Given the description of an element on the screen output the (x, y) to click on. 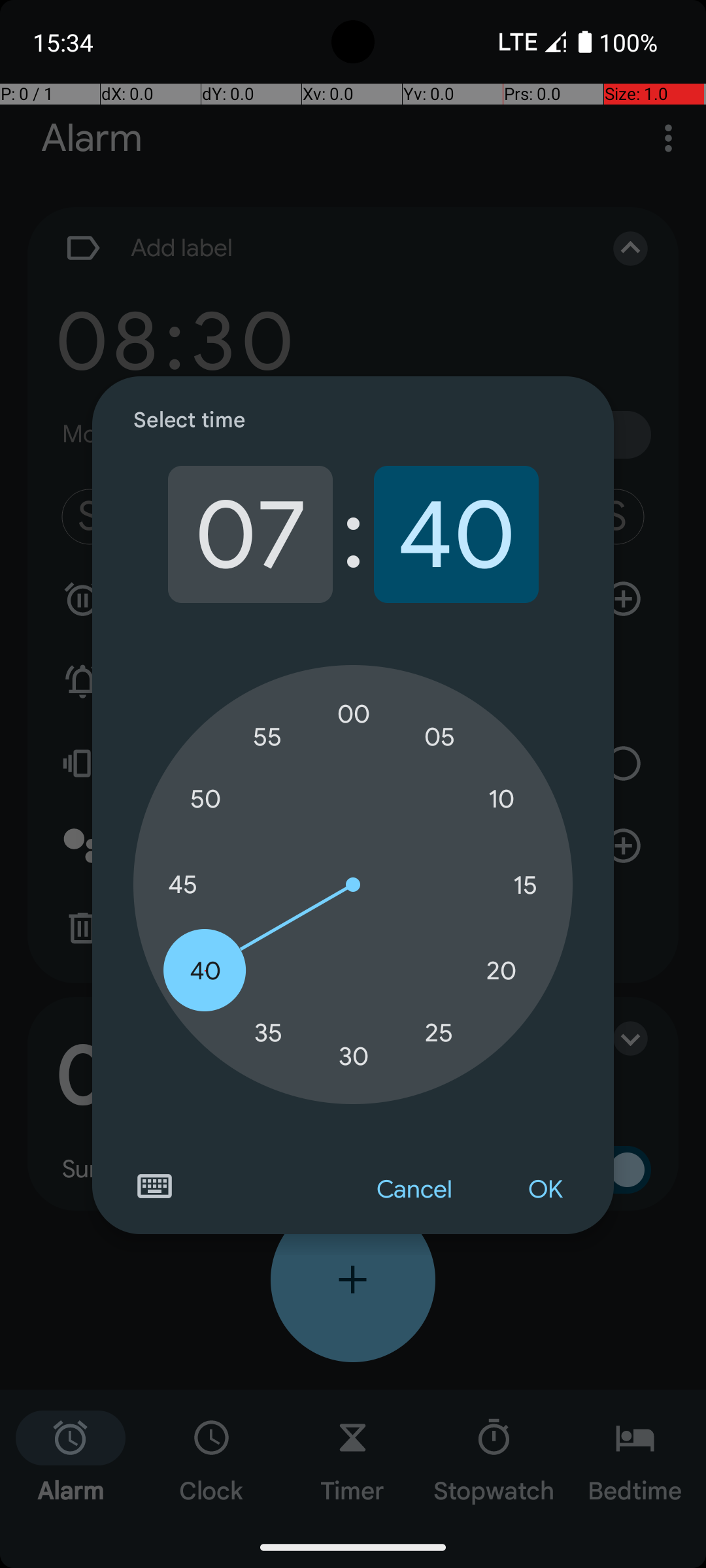
07 Element type: android.view.View (250, 534)
